Given the description of an element on the screen output the (x, y) to click on. 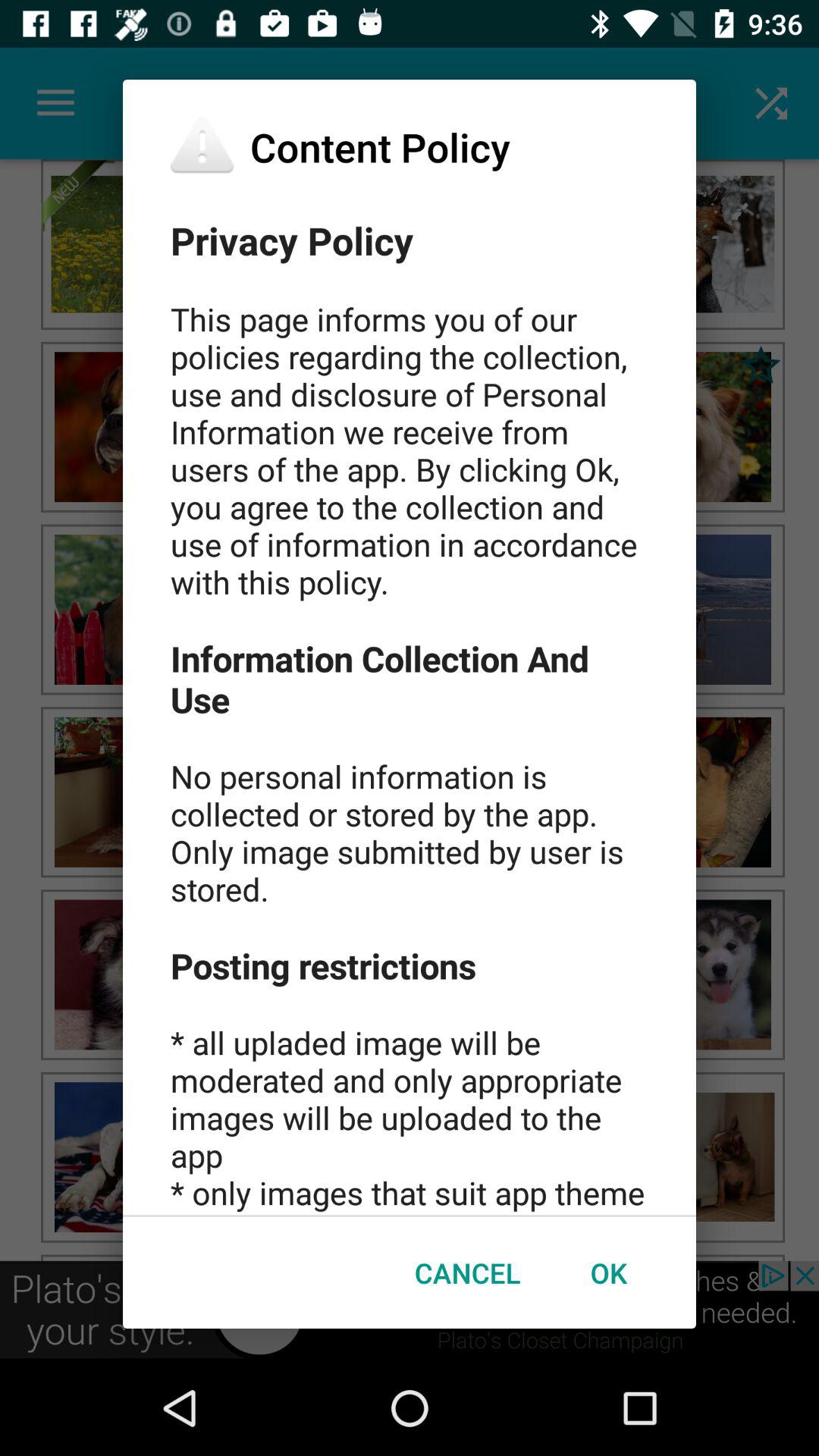
launch cancel item (467, 1272)
